Given the description of an element on the screen output the (x, y) to click on. 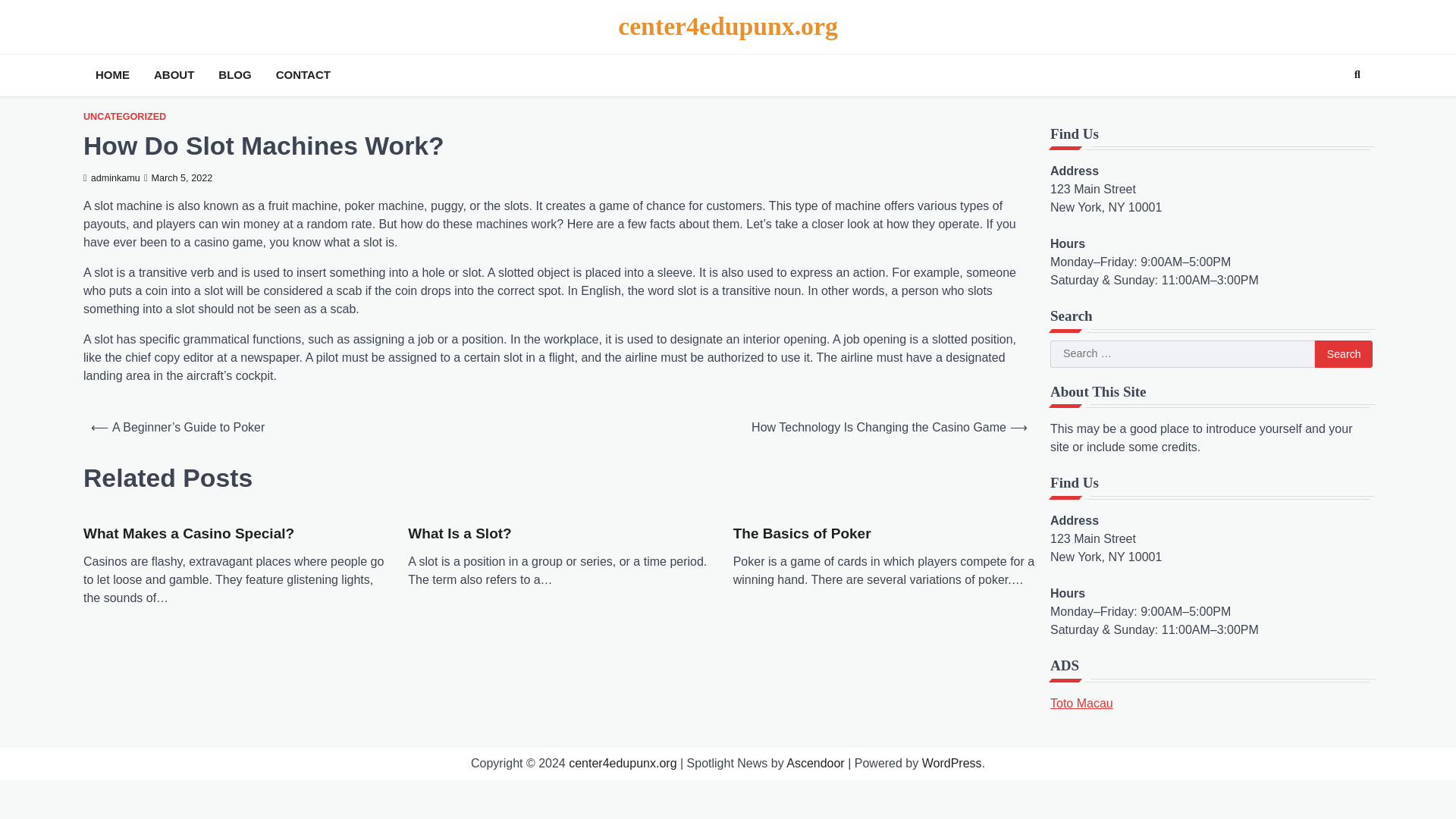
CONTACT (302, 75)
ABOUT (174, 75)
Search (1343, 353)
What Makes a Casino Special? (188, 534)
Search (1343, 353)
Search (1343, 353)
WordPress (951, 762)
Ascendoor (815, 762)
What Is a Slot? (459, 534)
center4edupunx.org (623, 762)
